Given the description of an element on the screen output the (x, y) to click on. 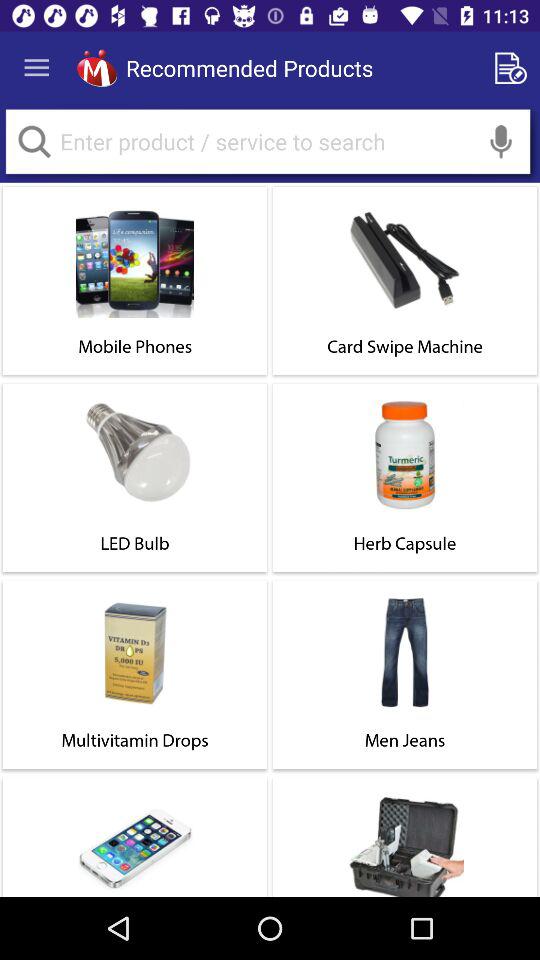
profile (96, 67)
